Given the description of an element on the screen output the (x, y) to click on. 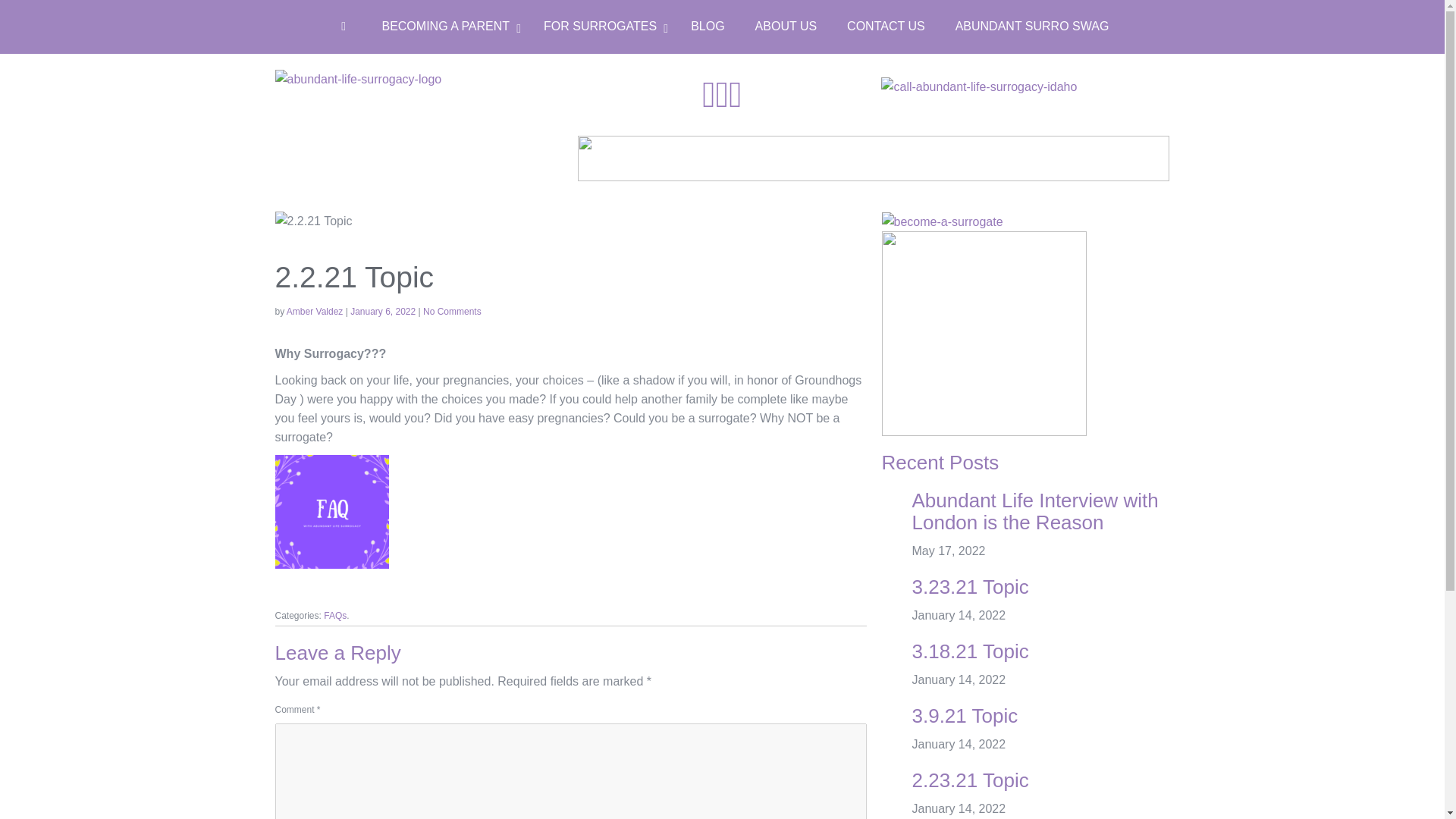
ABOUT US (785, 26)
3.23.21 Topic (969, 586)
3.9.21 Topic (964, 715)
FAQs (334, 615)
ABUNDANT SURRO SWAG (1032, 26)
Abundant Life Interview with London is the Reason (1034, 510)
No Comments (452, 311)
BECOMING A PARENT (447, 26)
3.18.21 Topic (969, 650)
FOR SURROGATES (601, 26)
January 6, 2022 (383, 311)
CONTACT US (885, 26)
BLOG (707, 26)
Amber Valdez (314, 311)
